Given the description of an element on the screen output the (x, y) to click on. 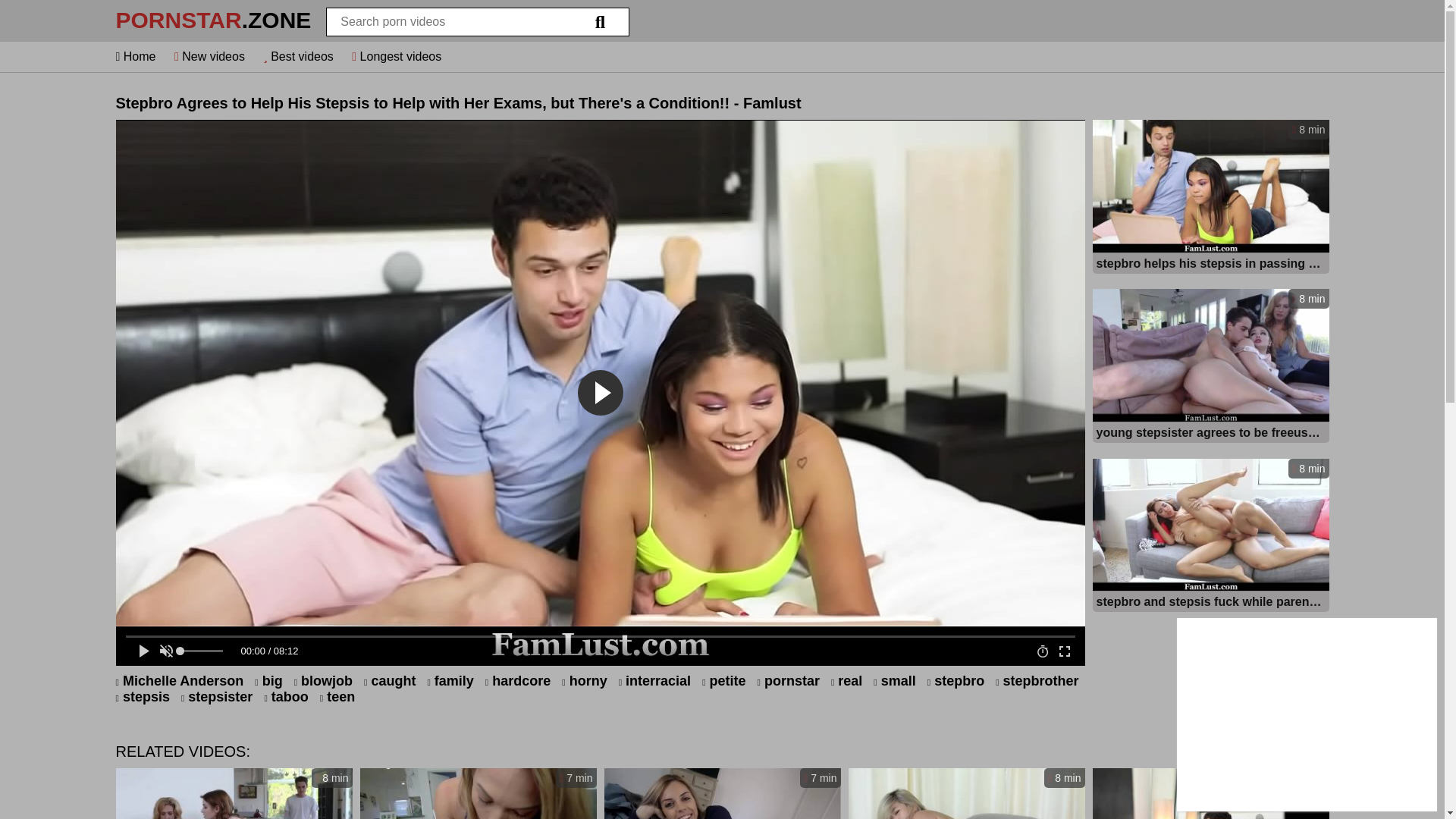
horny (584, 681)
stepsister (215, 697)
blowjob (323, 681)
stepbro (955, 681)
taboo (285, 697)
Home (135, 56)
Michelle Anderson (179, 681)
stepbrother (1036, 681)
teen (337, 697)
Stepbro and Stepsis Fuck While Parents Are away - Famlust (1209, 600)
